Given the description of an element on the screen output the (x, y) to click on. 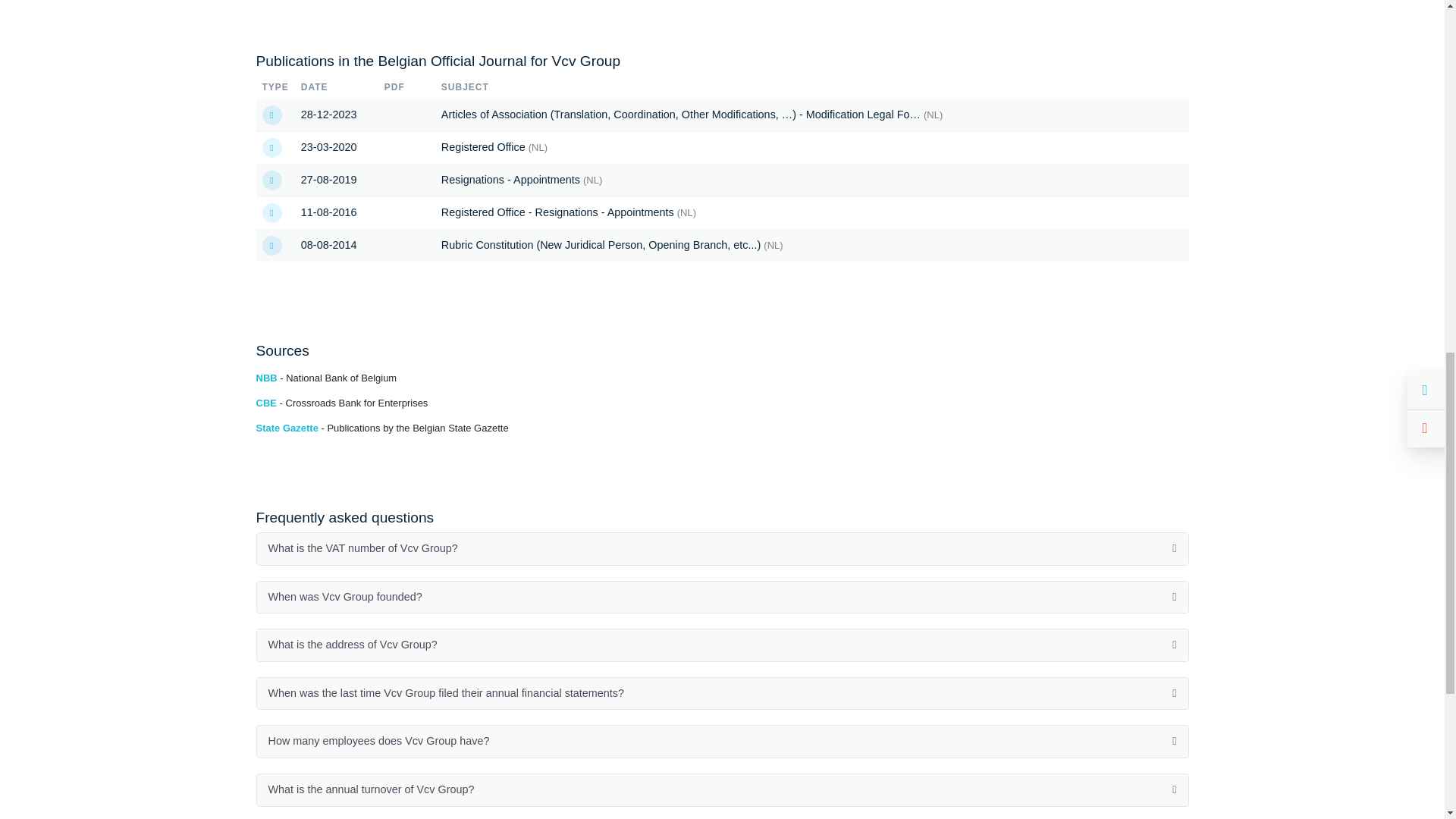
ontslagen-benoemingen (272, 180)
statuten (272, 115)
State Gazette - Publications by the Belgian State Gazette (382, 428)
oprichting (272, 245)
CBE - Crossroads Bank for Enterprises (342, 402)
maatschappelijke-zetel (272, 148)
maatschappelijke-zetel (272, 212)
NBB - National Bank of Belgium (326, 378)
